Given the description of an element on the screen output the (x, y) to click on. 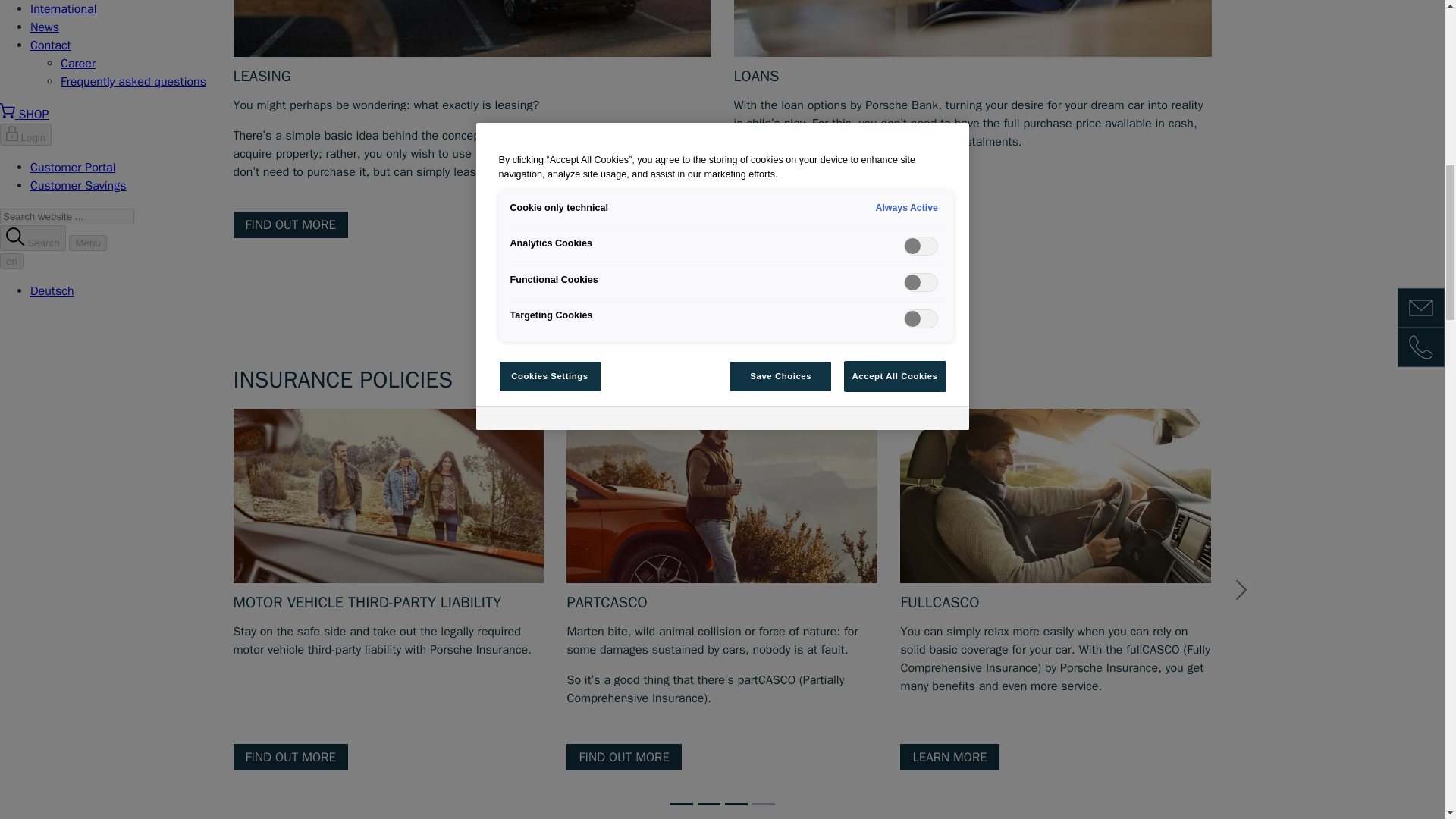
FIND OUT MORE (289, 224)
FIND OUT MORE (790, 224)
Porsche Bank Kfz Haftplicht (388, 495)
Porsche Bank teil KASKO (721, 495)
FIND OUT MORE (623, 756)
2010 Porschebank foto christian kasper 0078 (972, 28)
ASQ2 181008 1 (471, 28)
FIND OUT MORE (289, 756)
LEARN MORE (948, 756)
FIND OUT MORE (1290, 756)
Porsche Bank voll KASKO (1055, 495)
